Given the description of an element on the screen output the (x, y) to click on. 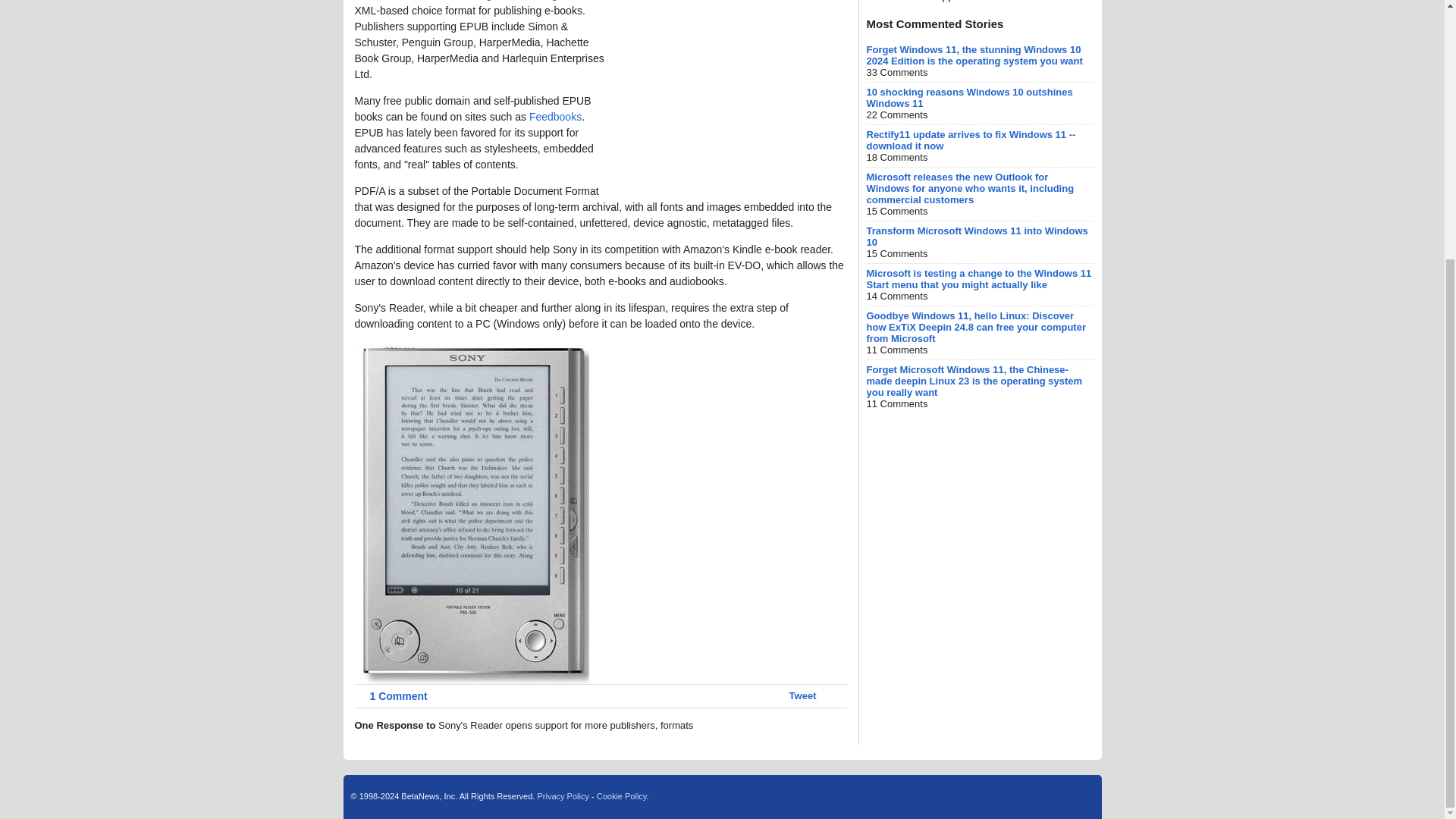
Transform Microsoft Windows 11 into Windows 10 (976, 236)
Tweet (802, 695)
Feedbooks (554, 116)
10 shocking reasons Windows 10 outshines Windows 11 (968, 97)
1 Comment (391, 695)
